Given the description of an element on the screen output the (x, y) to click on. 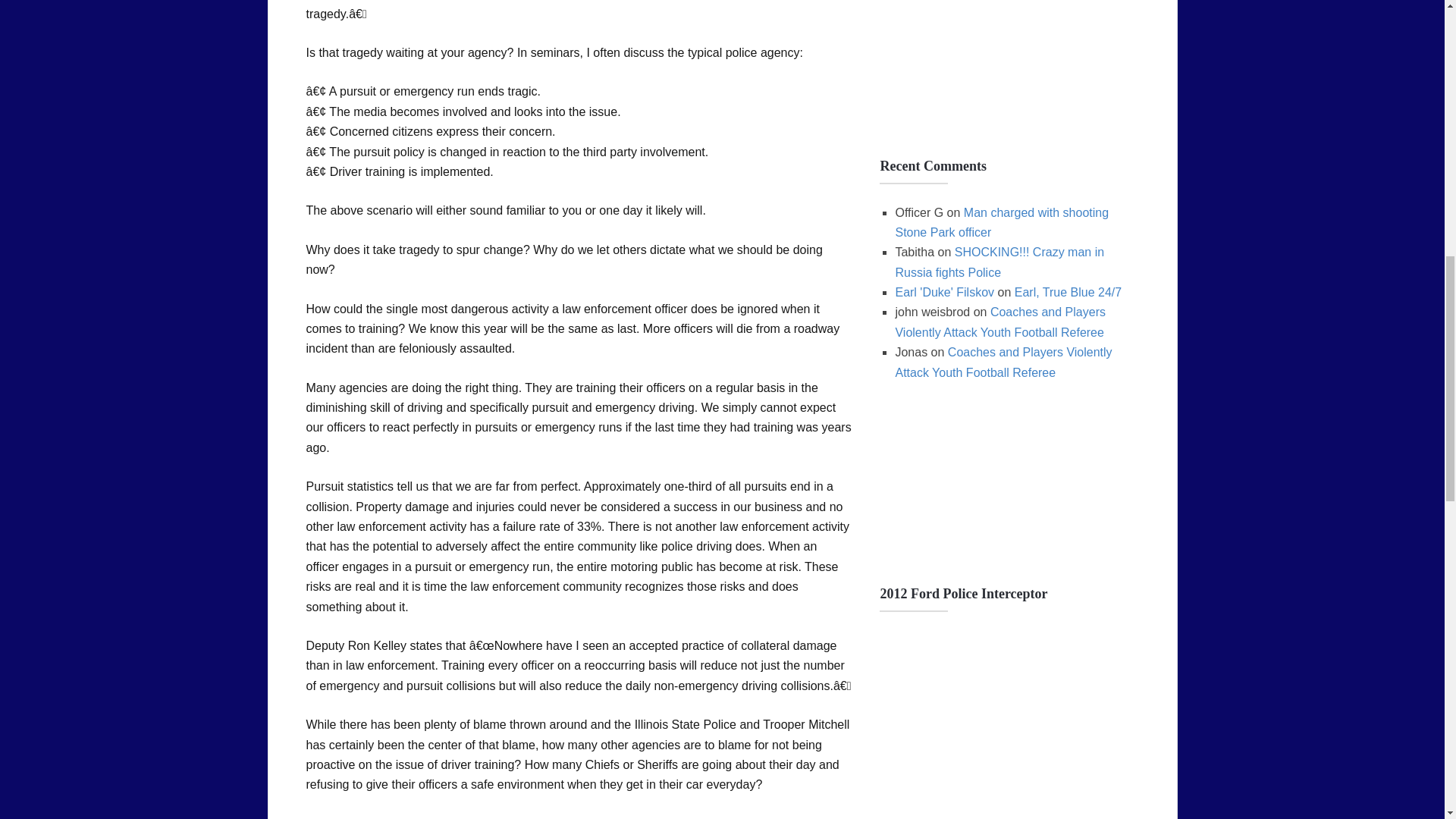
Coaches and Players Violently Attack Youth Football Referee (1000, 321)
Police Saluting (992, 489)
Coaches and Players Violently Attack Youth Football Referee (1003, 361)
SHOCKING!!! Crazy man in Russia fights Police (999, 261)
Earl 'Duke' Filskov (944, 291)
Man charged with shooting Stone Park officer (1001, 222)
